Given the description of an element on the screen output the (x, y) to click on. 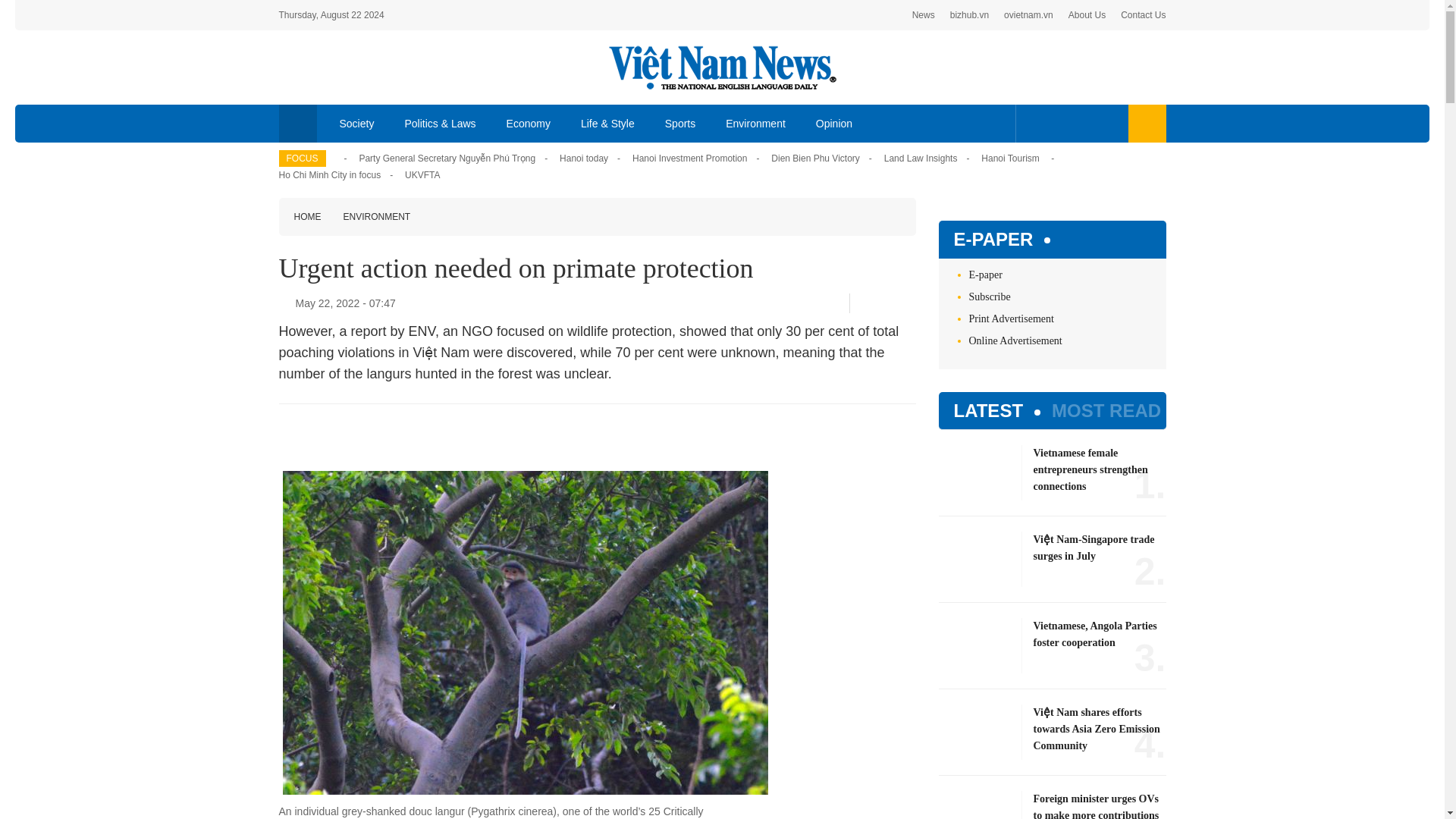
ovietnam.vn (1028, 15)
Email (909, 303)
Society (357, 123)
Sports (679, 123)
Environment (755, 123)
Youtube (1081, 122)
Twitter (885, 303)
Contact Us (1143, 15)
Facebook (1035, 123)
News (923, 15)
